Given the description of an element on the screen output the (x, y) to click on. 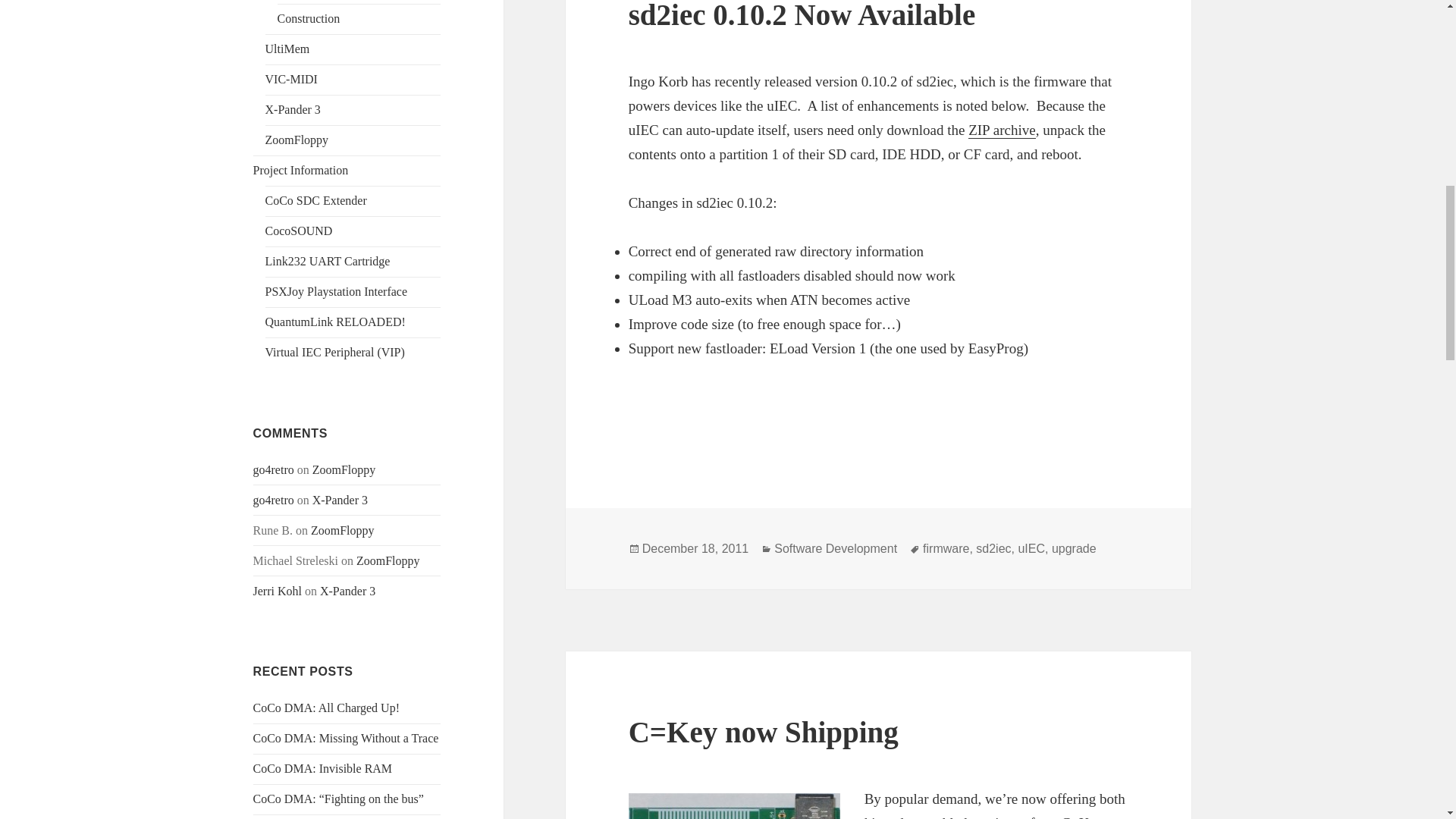
X-Pander 3 (340, 499)
go4retro (273, 499)
ZoomFloppy (344, 469)
VIC-MIDI (290, 78)
go4retro (273, 469)
Link232 UART Cartridge (327, 260)
ZoomFloppy (388, 560)
ZoomFloppy (296, 139)
UltiMem (287, 48)
CocoSOUND (298, 230)
